Given the description of an element on the screen output the (x, y) to click on. 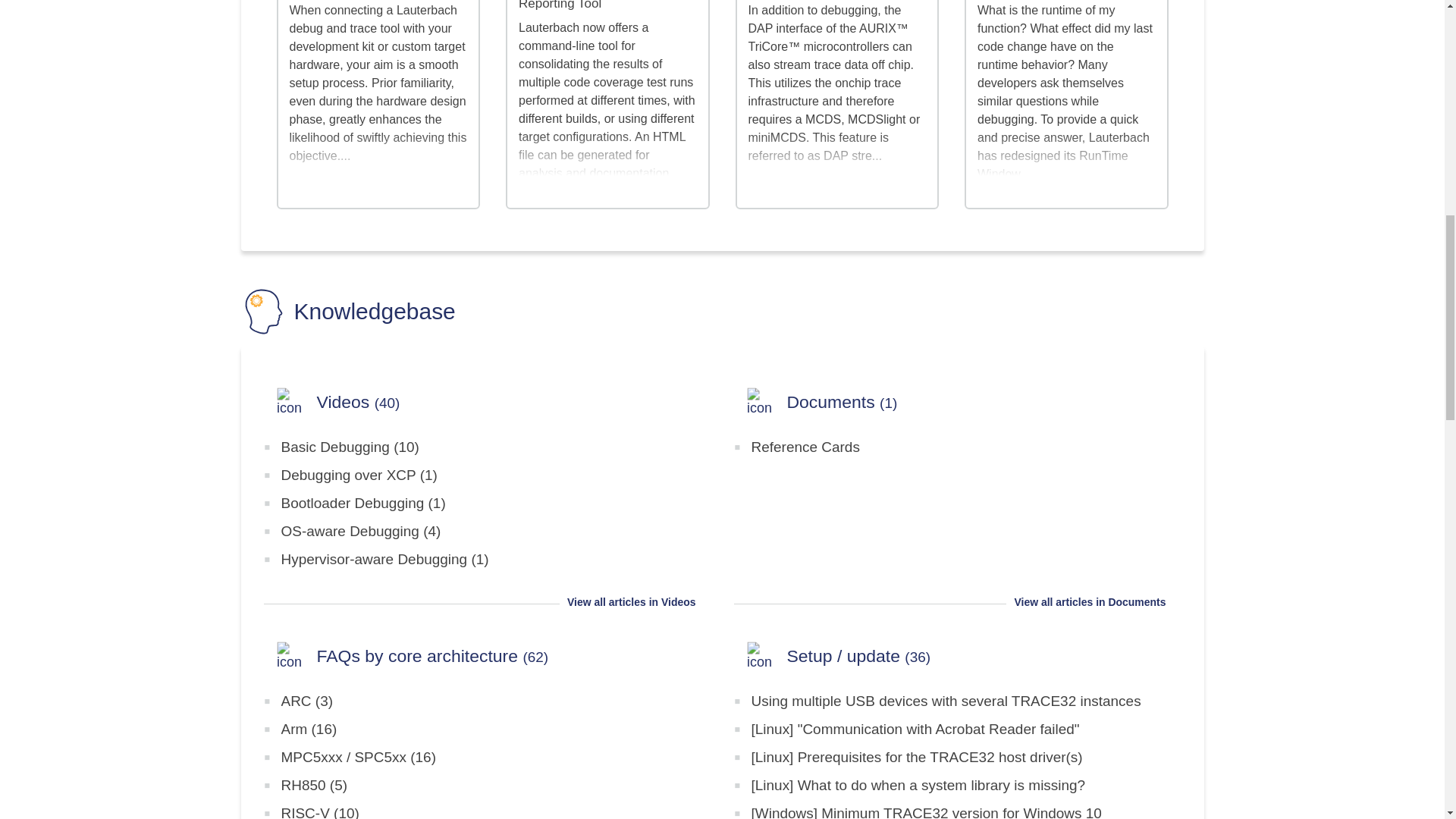
Knowledgebase (348, 311)
